Given the description of an element on the screen output the (x, y) to click on. 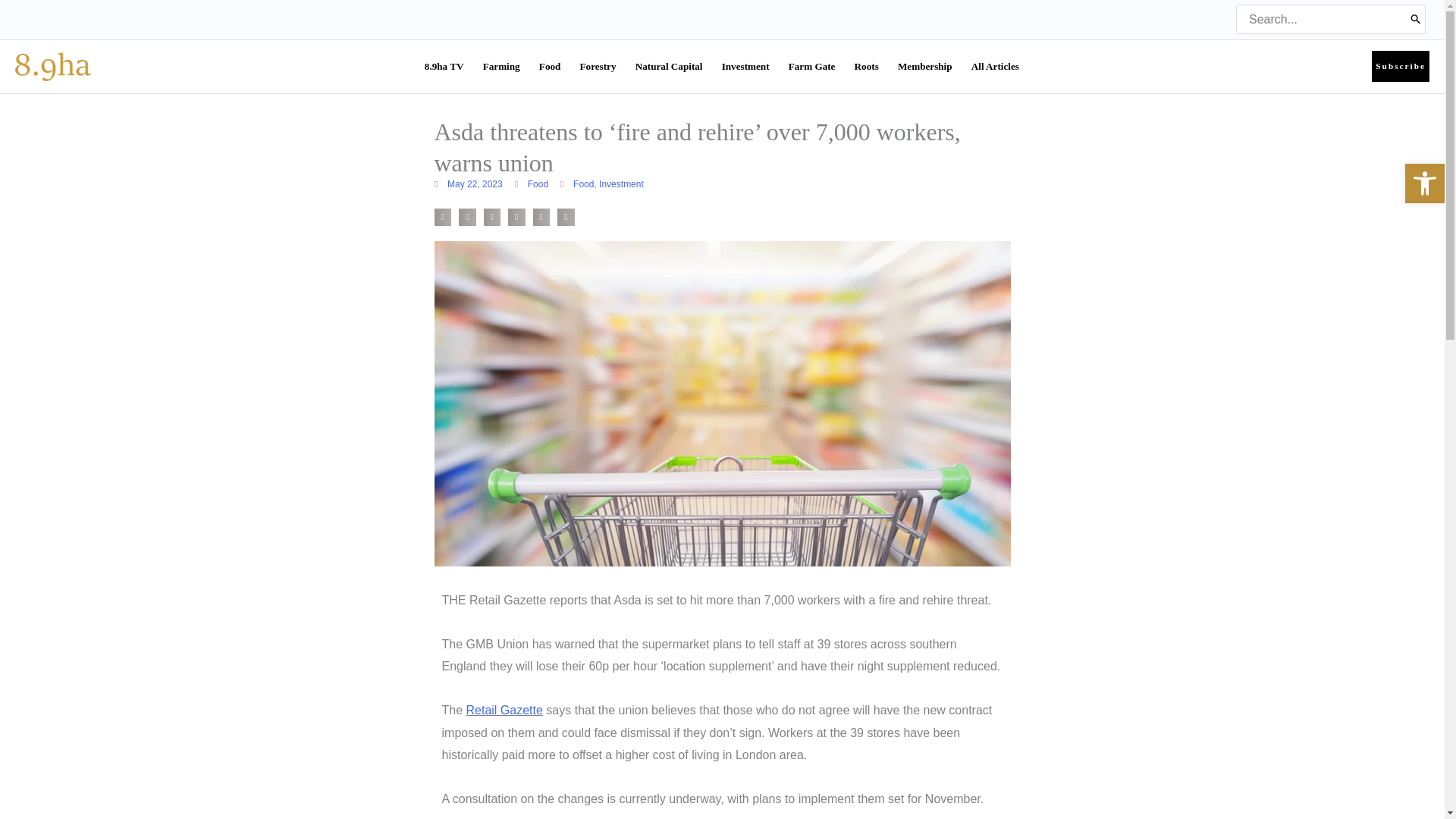
Farming (501, 66)
Accessibility Tools (1424, 183)
Food (549, 66)
Retail Gazette (504, 709)
Investment (620, 184)
Food (537, 184)
May 22, 2023 (467, 184)
Membership (925, 66)
Forestry (598, 66)
Natural Capital (669, 66)
Roots (866, 66)
All Articles (995, 66)
Farm Gate (811, 66)
8.9ha TV (444, 66)
Investment (745, 66)
